Given the description of an element on the screen output the (x, y) to click on. 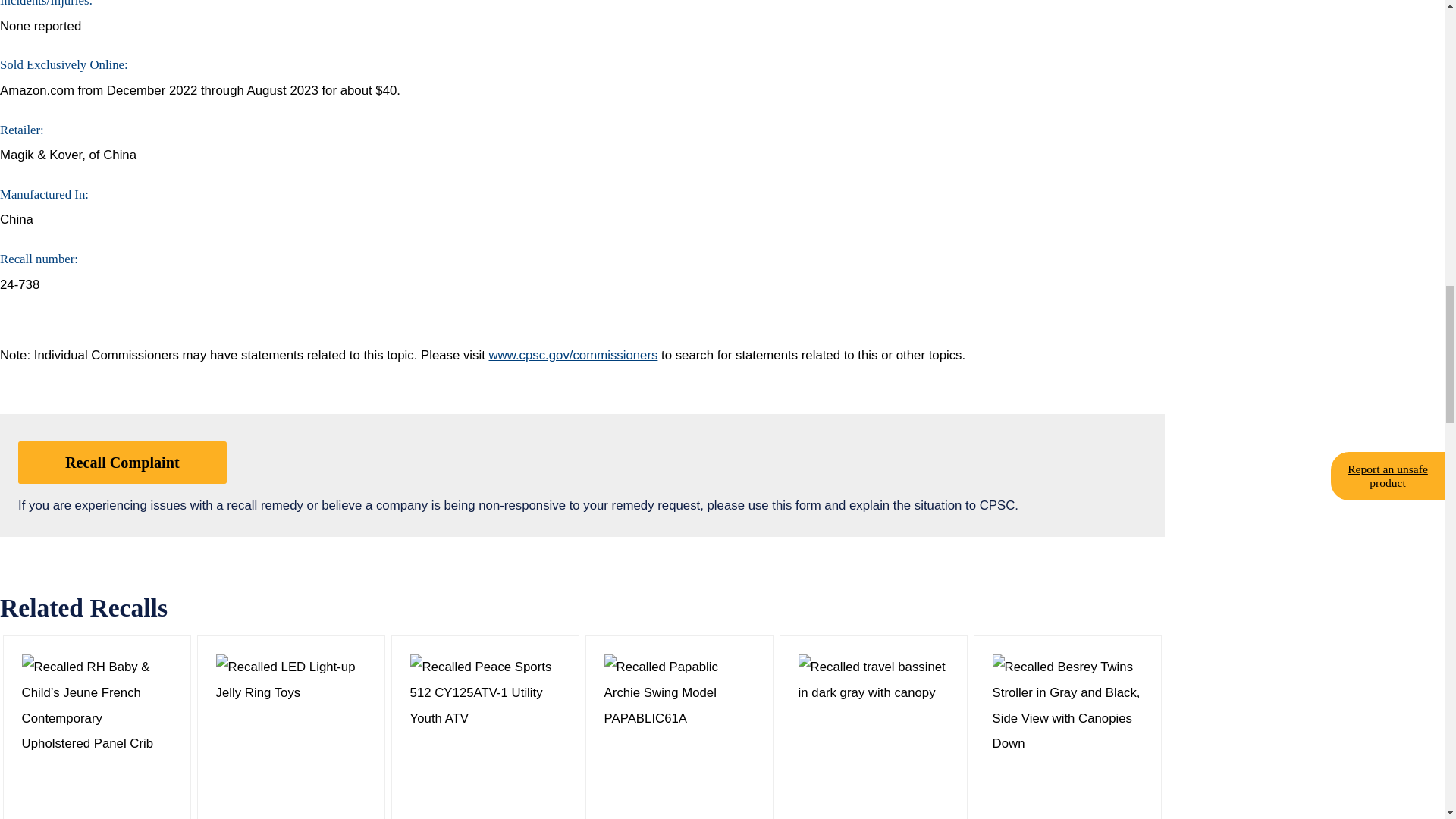
Recall Complaint (122, 462)
